Given the description of an element on the screen output the (x, y) to click on. 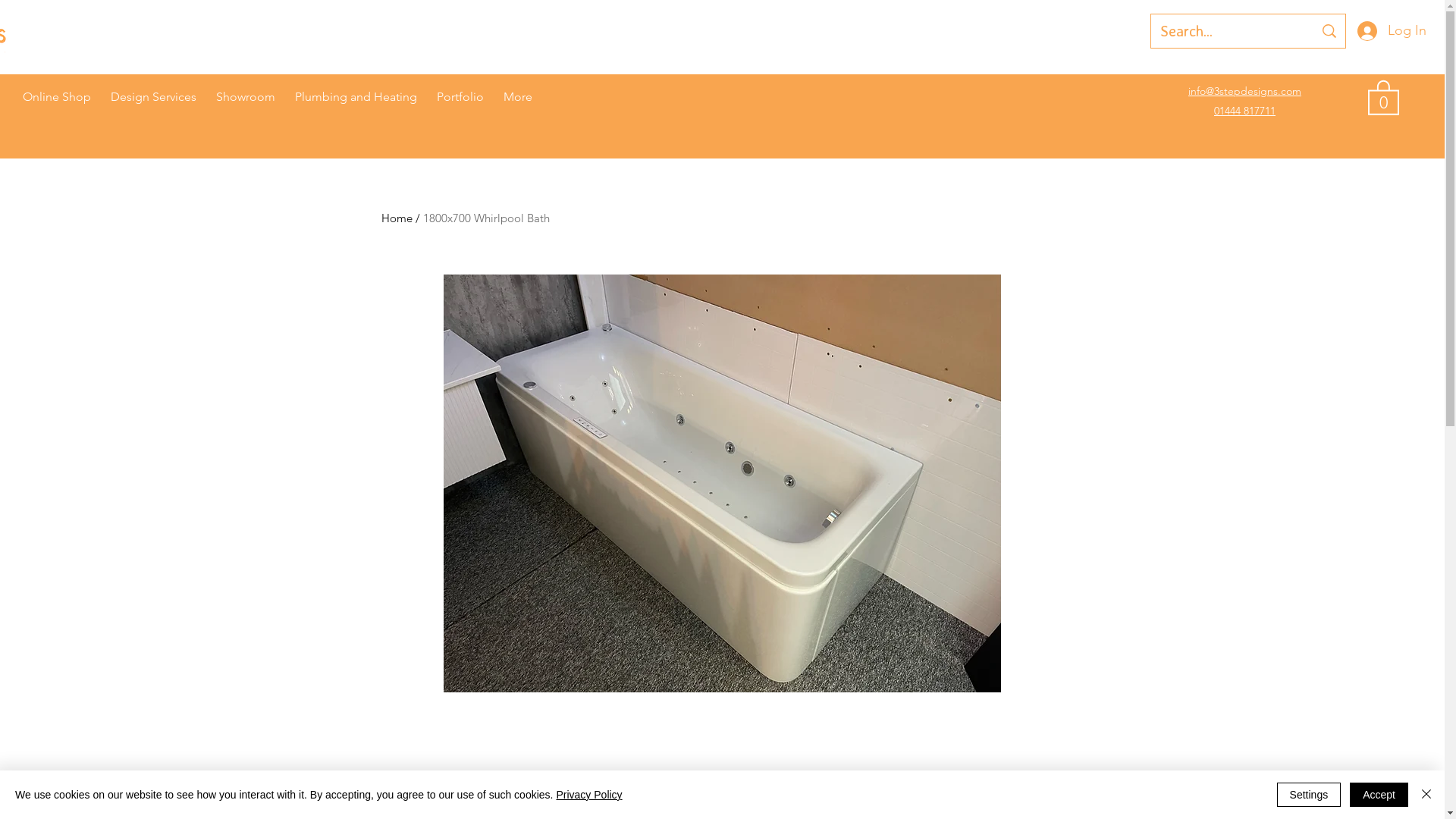
Privacy Policy Element type: text (588, 794)
Log In Element type: text (1391, 30)
Design Services Element type: text (153, 96)
Plumbing and Heating Element type: text (355, 96)
info@3stepdesigns.com Element type: text (1244, 90)
Portfolio Element type: text (459, 96)
Online Shop Element type: text (56, 96)
Settings Element type: text (1309, 794)
1800x700 Whirlpool Bath Element type: text (486, 217)
Showroom Element type: text (245, 96)
0 Element type: text (1383, 96)
Home Element type: text (395, 217)
01444 817711 Element type: text (1244, 110)
Accept Element type: text (1378, 794)
